Given the description of an element on the screen output the (x, y) to click on. 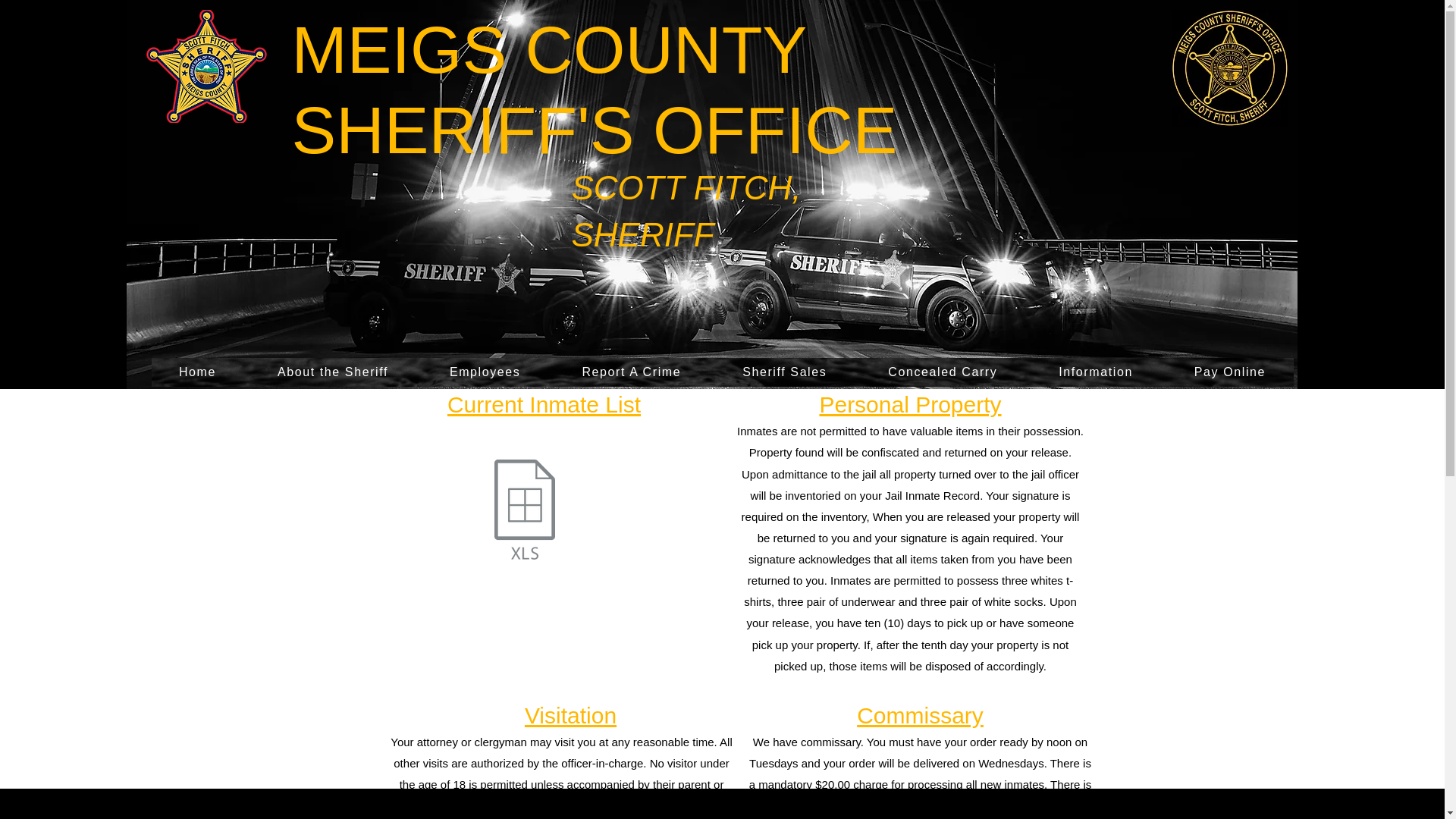
Pay Online (1229, 371)
Employees (484, 371)
Sheriff Sales (784, 371)
Concealed Carry (942, 371)
Information (1095, 371)
Home (197, 371)
Sheriff-Star-Fitch.png (205, 65)
Report A Crime (631, 371)
About the Sheriff (331, 371)
